Given the description of an element on the screen output the (x, y) to click on. 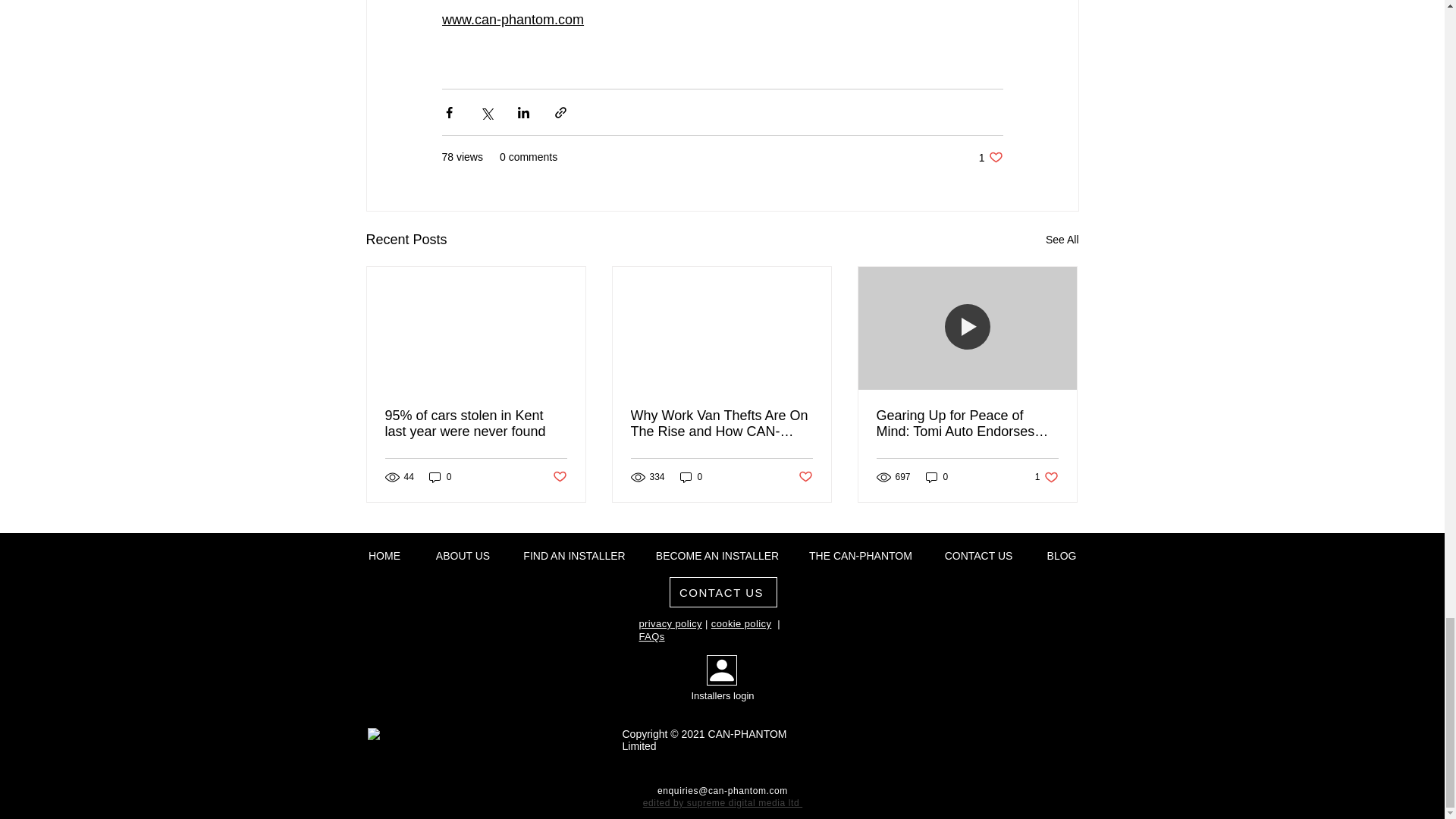
CONTACT US (978, 555)
FIND AN INSTALLER (575, 555)
BLOG (1061, 555)
Post not marked as liked (804, 477)
0 (937, 477)
0 (440, 477)
HOME (383, 555)
See All (1061, 239)
BECOME AN INSTALLER (717, 555)
